Given the description of an element on the screen output the (x, y) to click on. 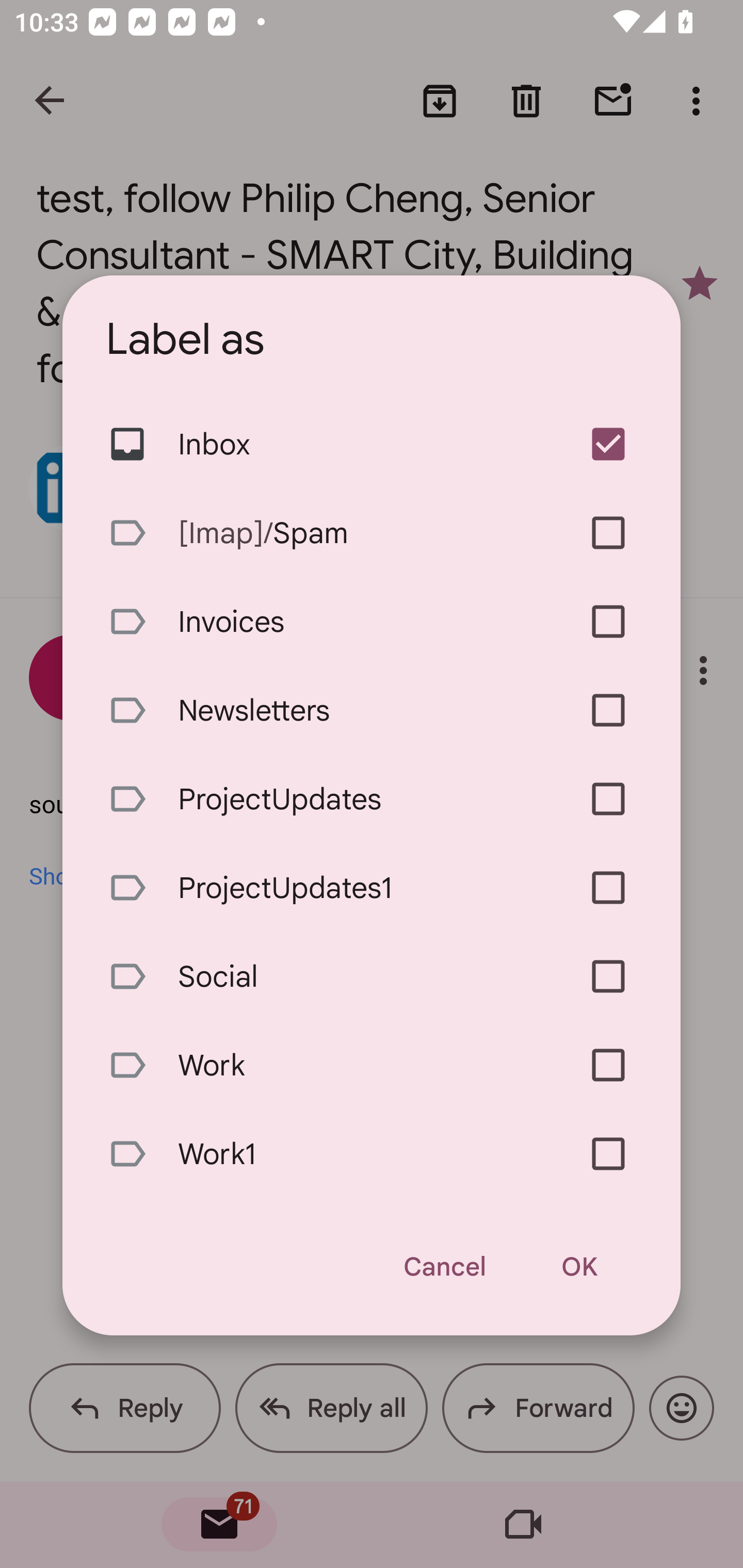
Inbox (371, 444)
[Imap]/Spam (371, 533)
Invoices (371, 621)
Newsletters (371, 710)
ProjectUpdates (371, 798)
ProjectUpdates1 (371, 887)
Social (371, 975)
Work (371, 1065)
Work1 (371, 1153)
Cancel (444, 1266)
OK (579, 1266)
